Given the description of an element on the screen output the (x, y) to click on. 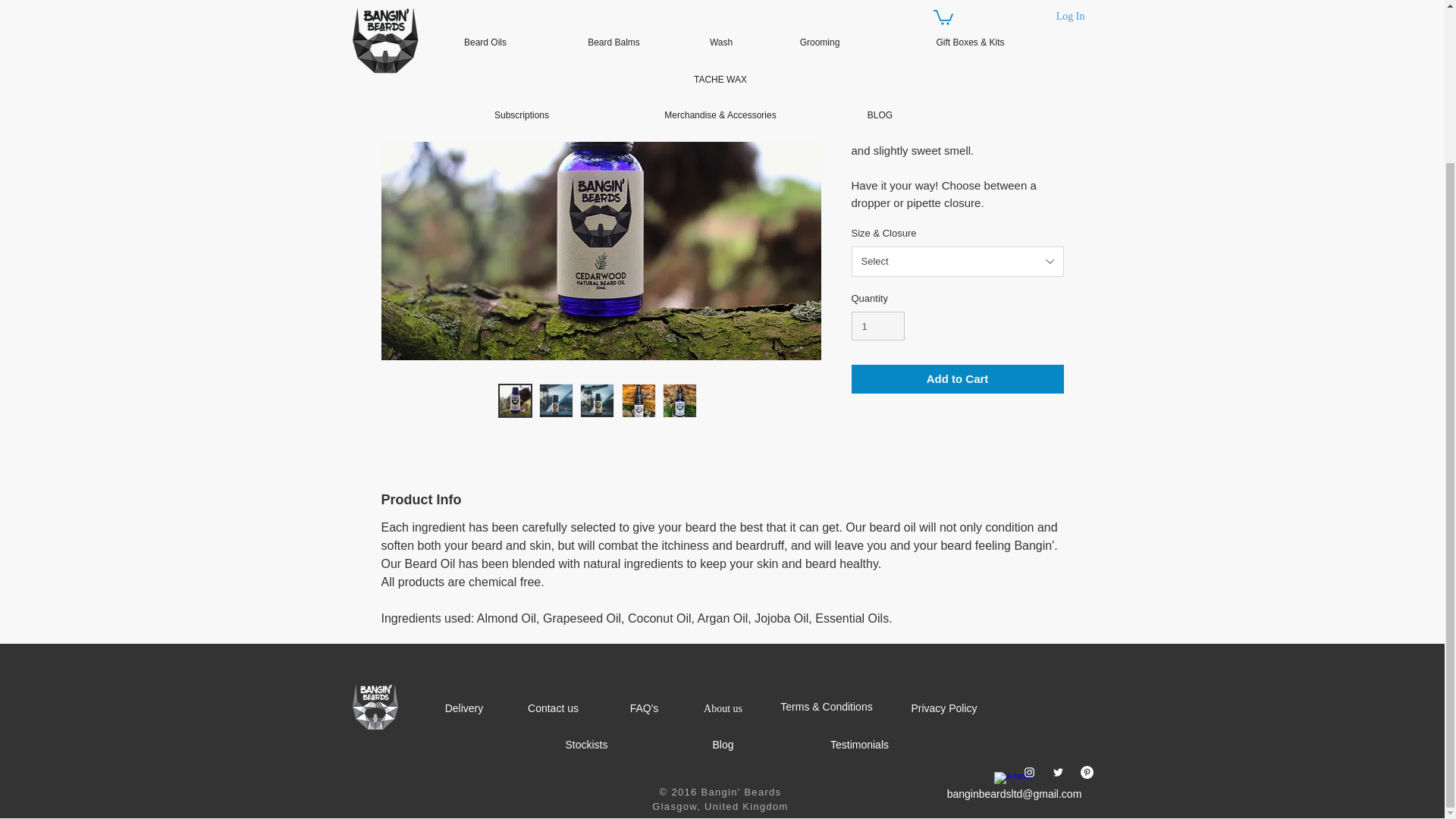
Privacy Policy (943, 708)
FAQ's (643, 708)
Contact us (552, 708)
Blog (722, 744)
Select (956, 261)
About us (722, 707)
Stockists (586, 744)
Delivery (463, 708)
logo-light.png (374, 706)
Testimonials (858, 744)
Add to Cart (956, 378)
1 (877, 326)
